Given the description of an element on the screen output the (x, y) to click on. 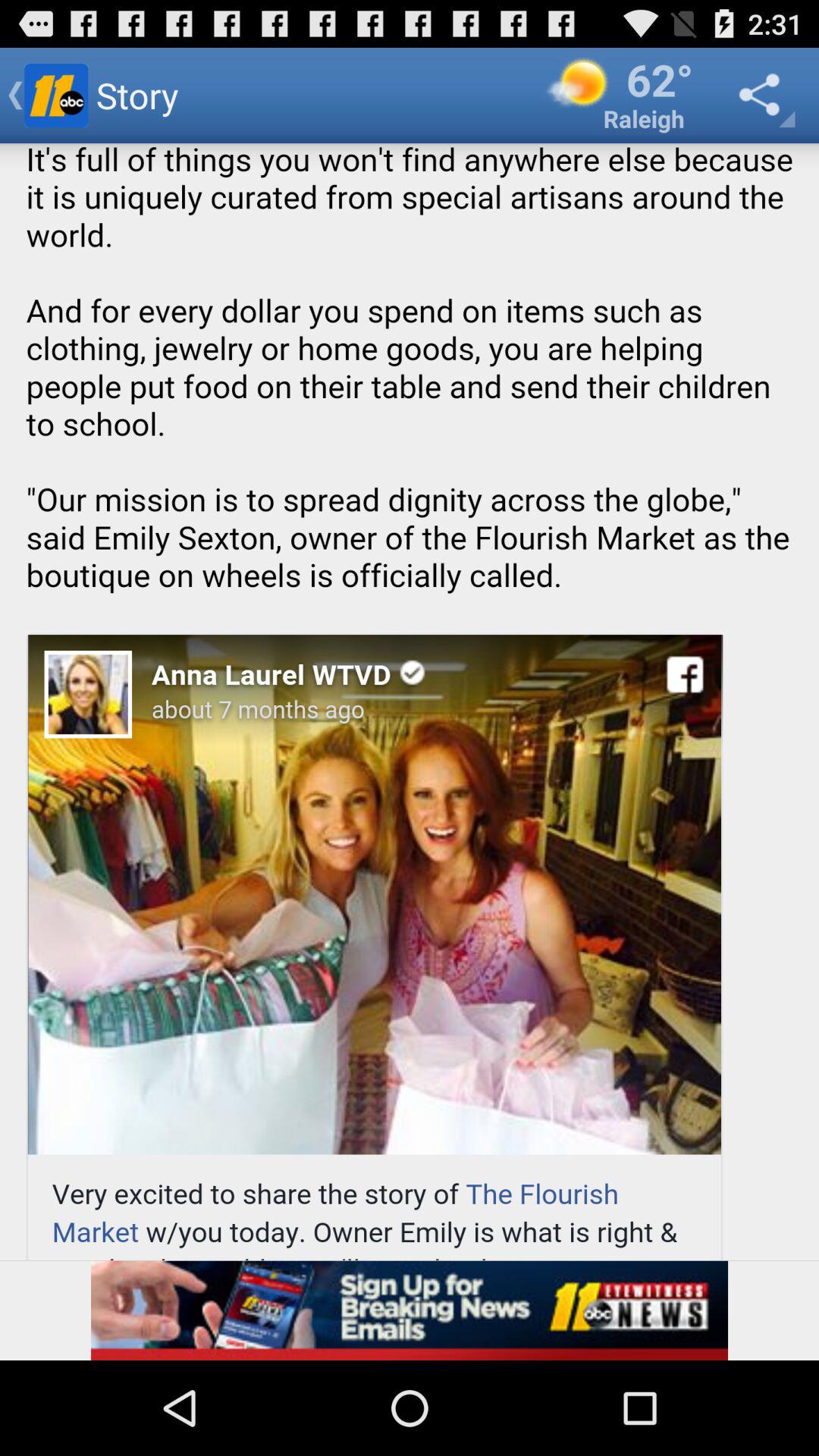
go to advertisement website (409, 1310)
